Given the description of an element on the screen output the (x, y) to click on. 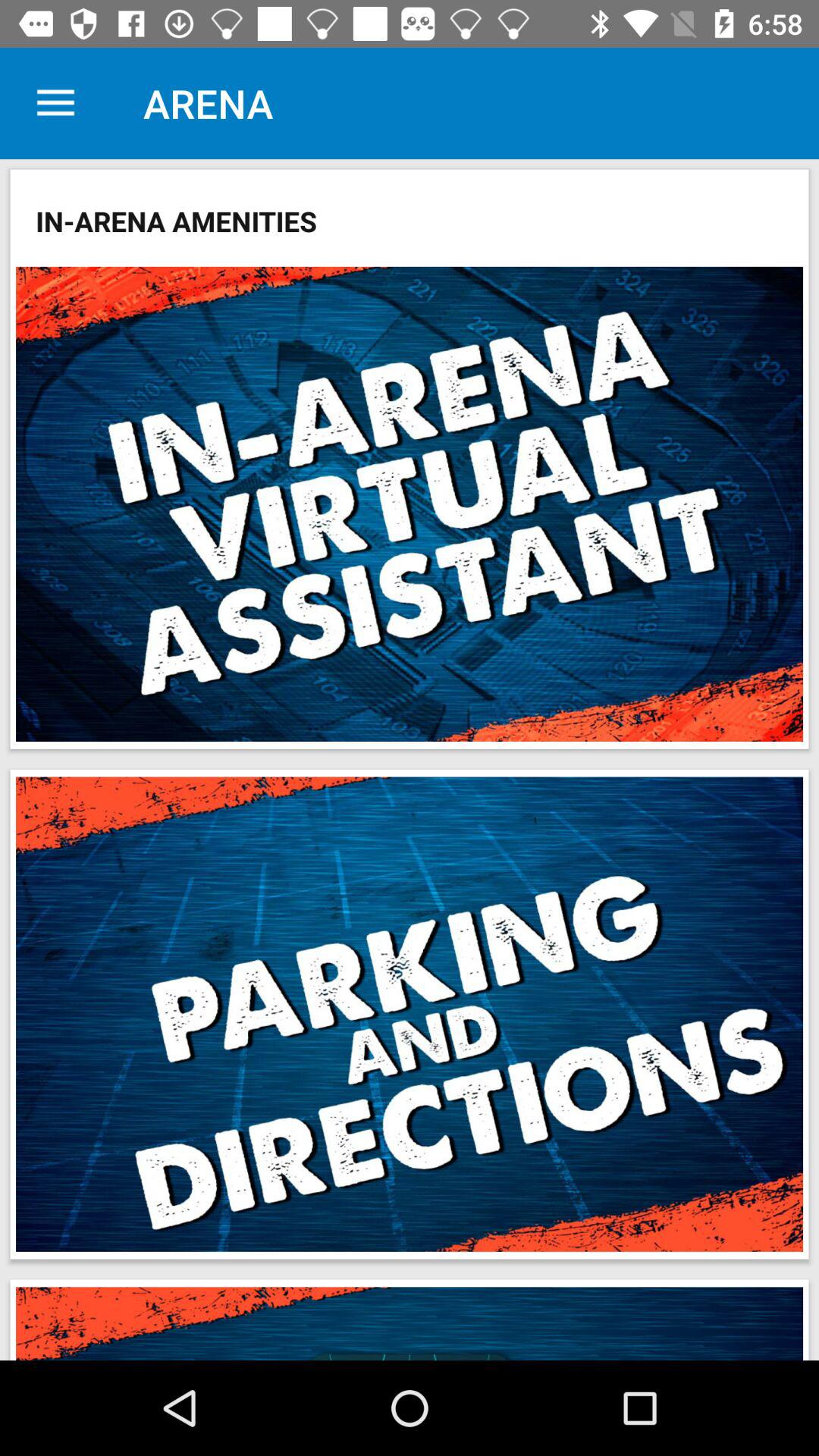
turn on item next to the arena item (55, 103)
